Given the description of an element on the screen output the (x, y) to click on. 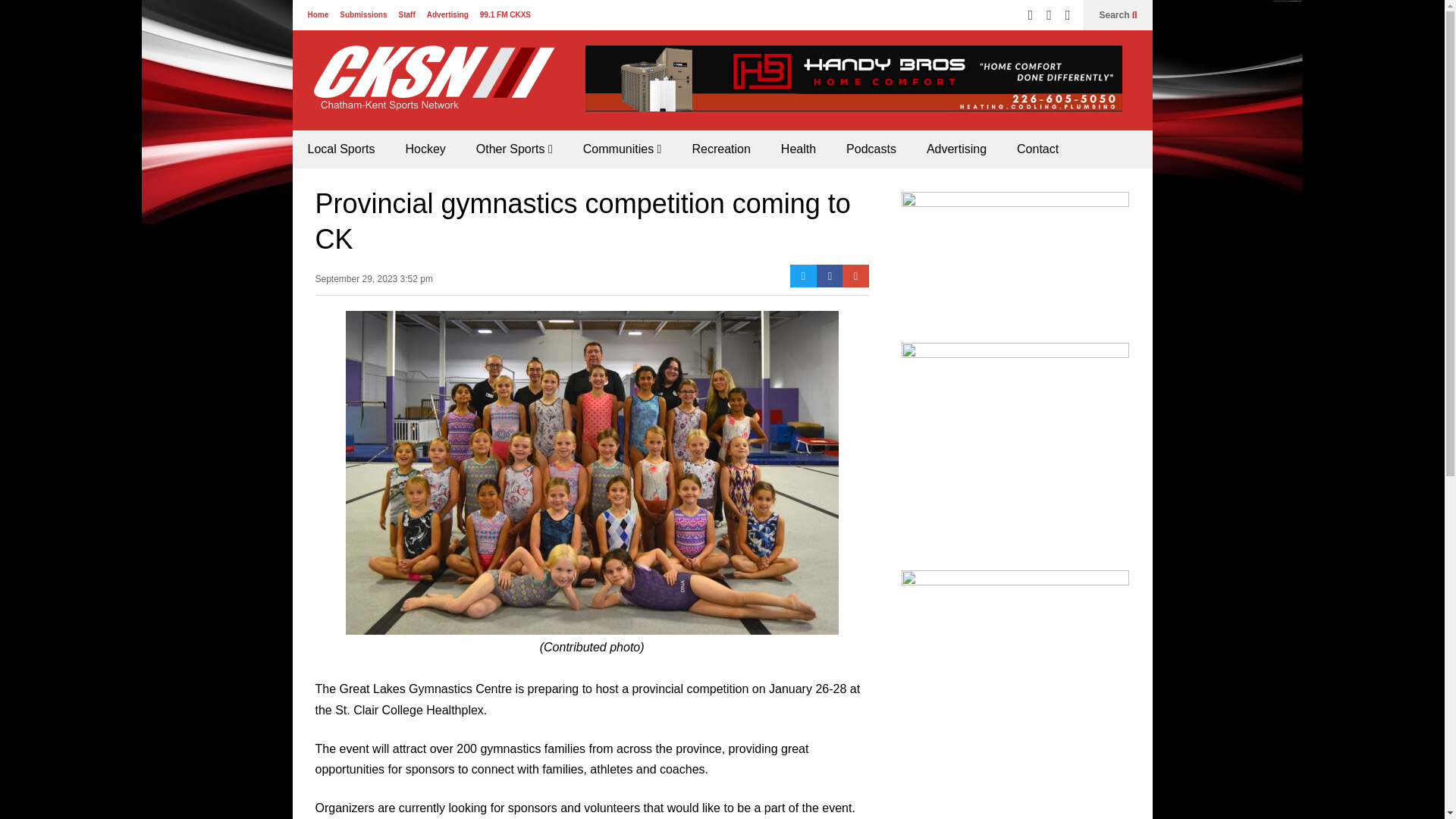
Chatham-Kent Sports Network (430, 87)
Advertising (447, 14)
Local Sports (341, 149)
Recreation (721, 149)
Twitter (803, 275)
Home (318, 14)
99.1 FM CKXS (505, 14)
Advertising (956, 149)
Communities (622, 149)
Other Sports (514, 149)
Contact (1037, 149)
Submissions (363, 14)
E-mail (856, 275)
Facebook (829, 275)
Search (1118, 15)
